Given the description of an element on the screen output the (x, y) to click on. 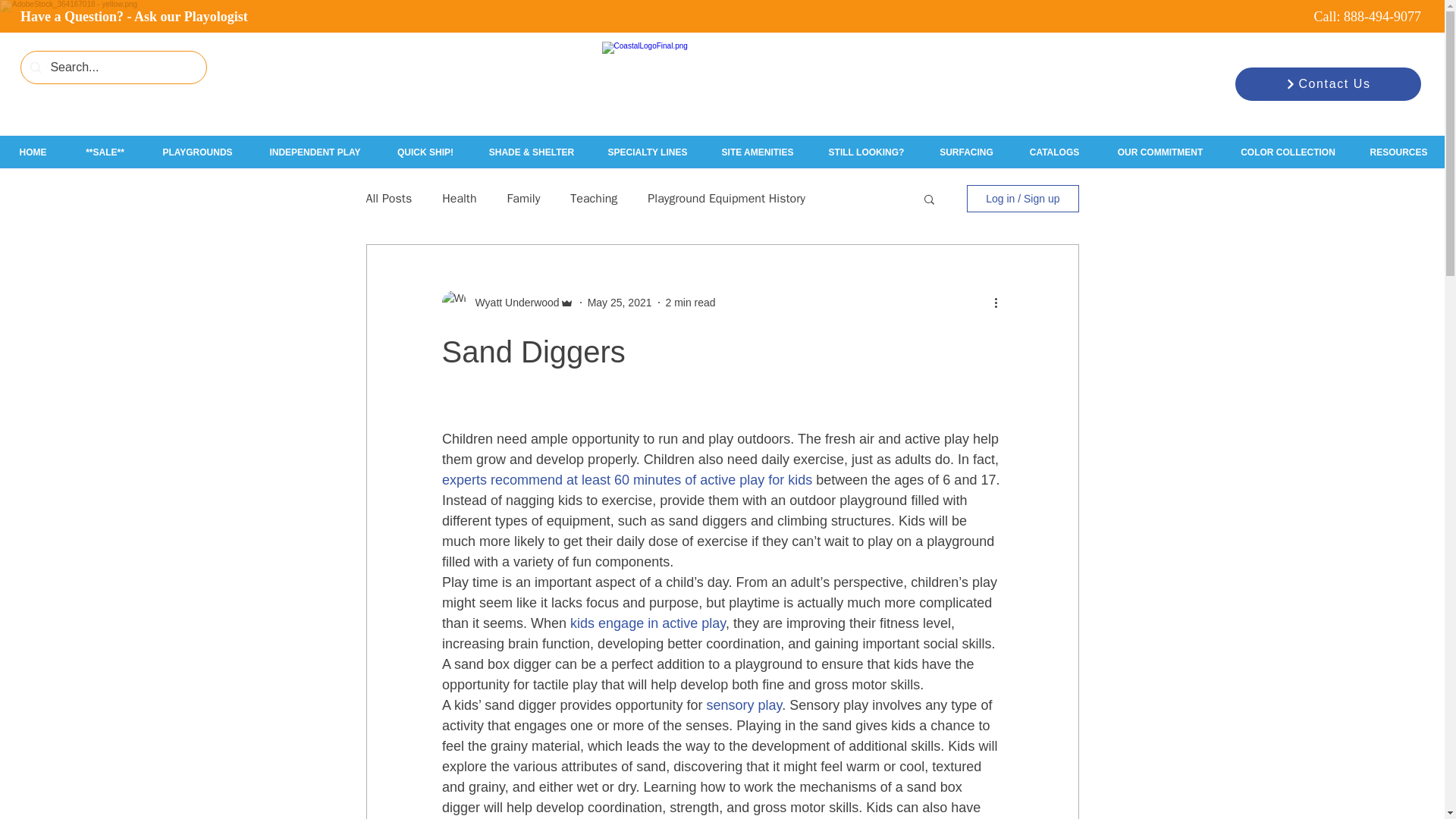
QUICK SHIP! (424, 152)
2 min read (690, 301)
PLAYGROUNDS (197, 152)
Contact Us (1327, 83)
INDEPENDENT PLAY (314, 152)
HOME (32, 152)
SPECIALTY LINES (647, 152)
Call: 888-494-9077 (1367, 16)
Wyatt Underwood (512, 302)
May 25, 2021 (620, 301)
